Given the description of an element on the screen output the (x, y) to click on. 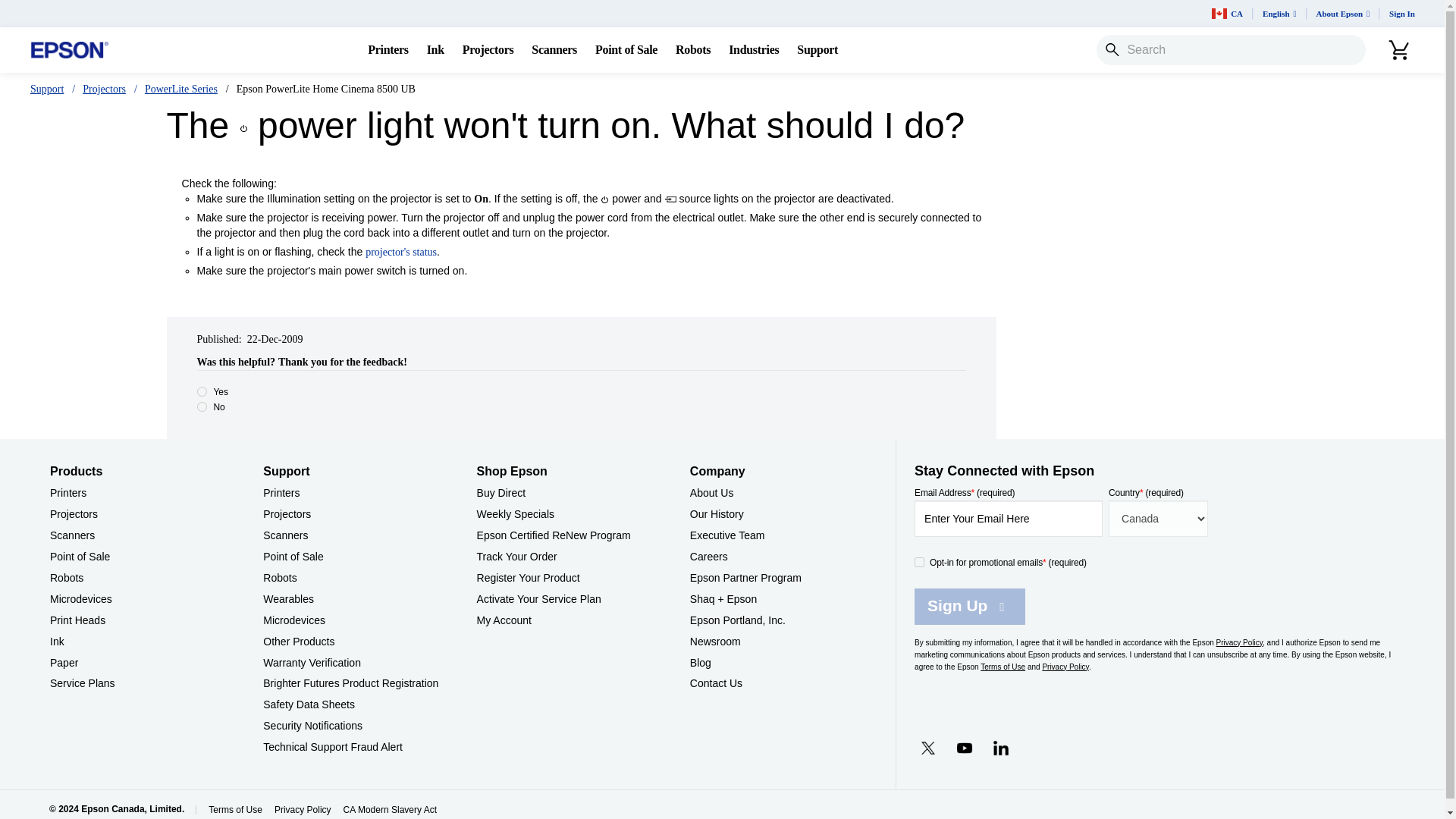
on (919, 562)
English (1279, 13)
CA (1227, 13)
no (201, 406)
yes (201, 391)
Epson Logo (69, 49)
CA (1227, 13)
English (1279, 13)
Sign In (1401, 13)
Sign In (1401, 13)
